Given the description of an element on the screen output the (x, y) to click on. 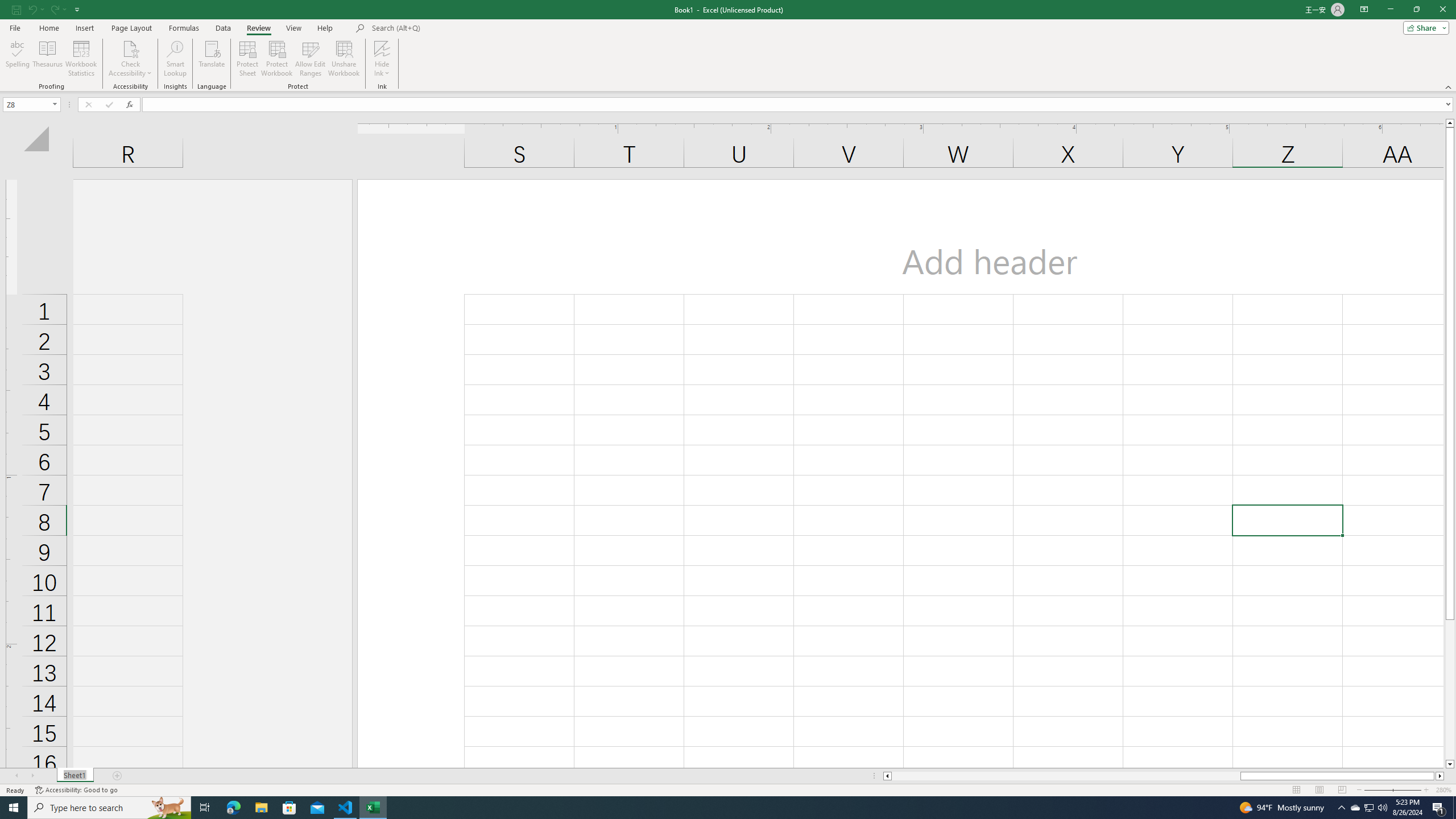
Smart Lookup (175, 58)
